Given the description of an element on the screen output the (x, y) to click on. 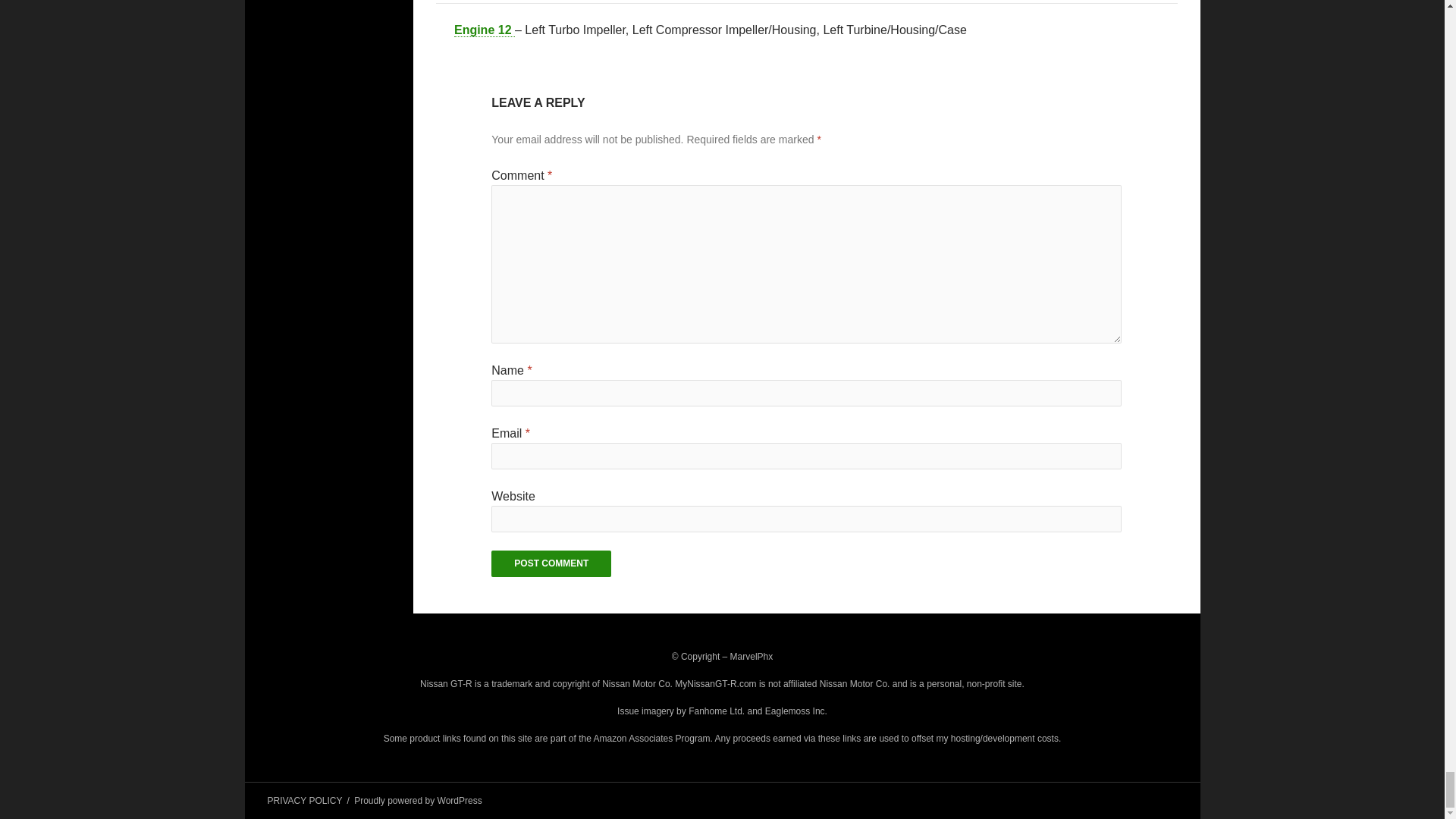
Post Comment (551, 563)
